Given the description of an element on the screen output the (x, y) to click on. 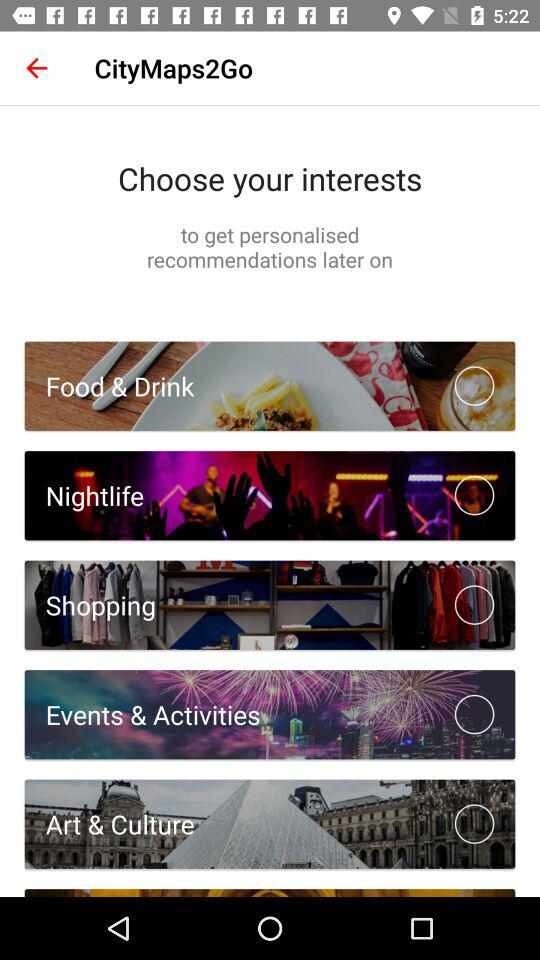
select icon above to get personalised item (270, 178)
